Given the description of an element on the screen output the (x, y) to click on. 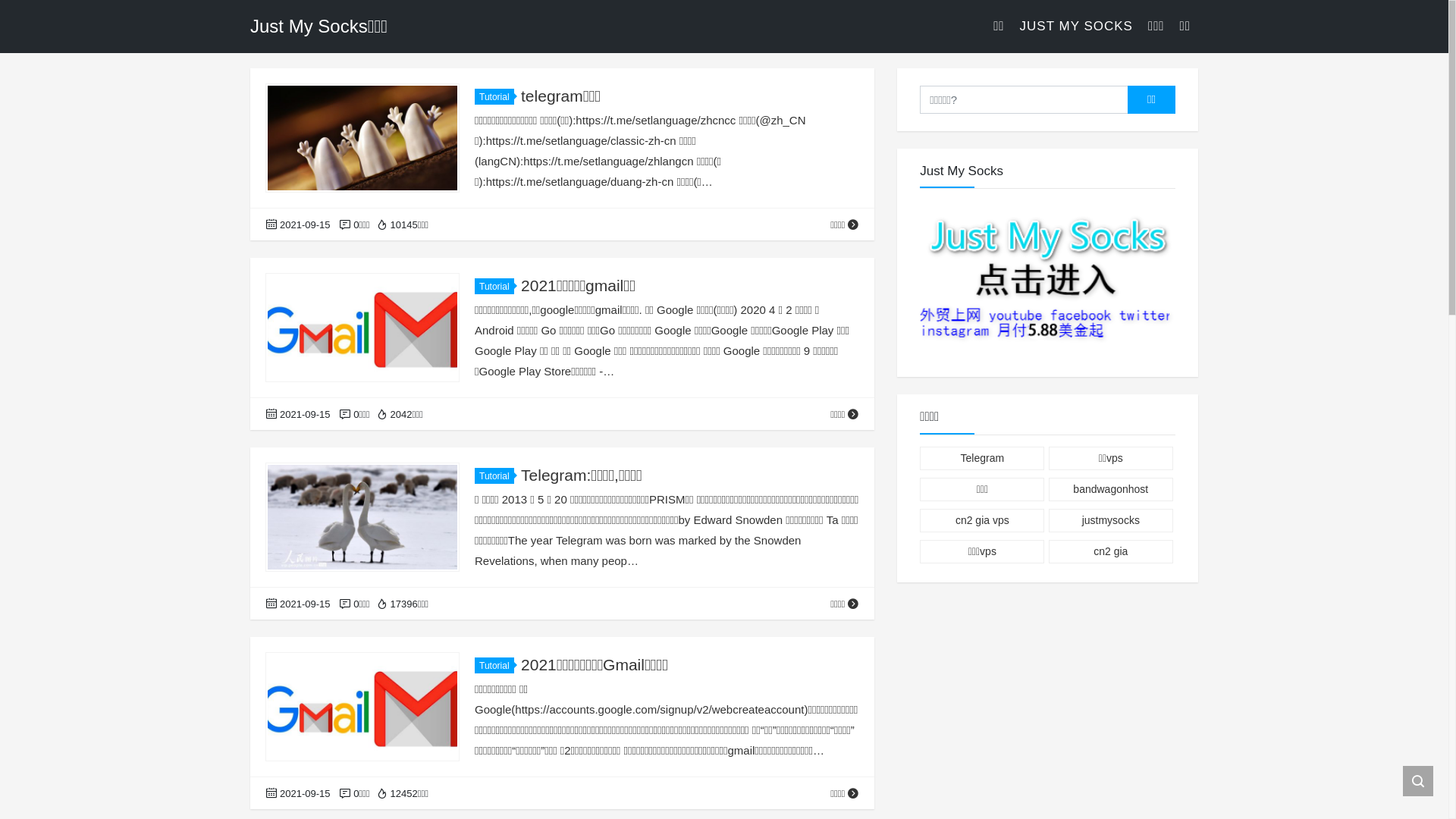
JUST MY SOCKS Element type: text (1076, 26)
cn2 gia Element type: text (1110, 551)
justmysocks Element type: text (1110, 520)
bandwagonhost Element type: text (1110, 489)
Tutorial Element type: text (494, 665)
Tutorial Element type: text (494, 475)
cn2 gia vps Element type: text (981, 520)
Tutorial Element type: text (494, 286)
Telegram Element type: text (981, 458)
Tutorial Element type: text (494, 96)
